Given the description of an element on the screen output the (x, y) to click on. 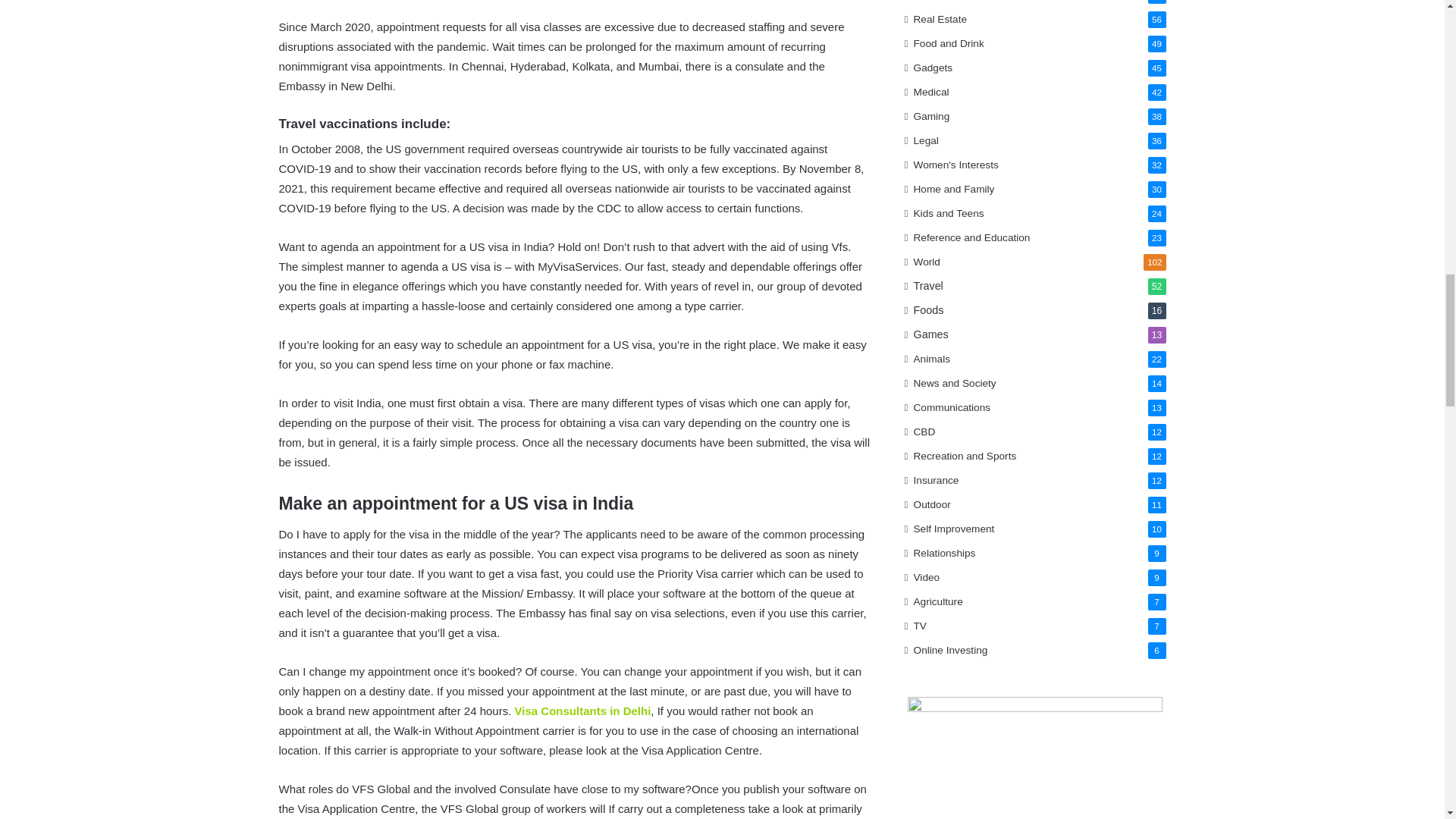
Visa Consultants in Delhi (582, 710)
